Given the description of an element on the screen output the (x, y) to click on. 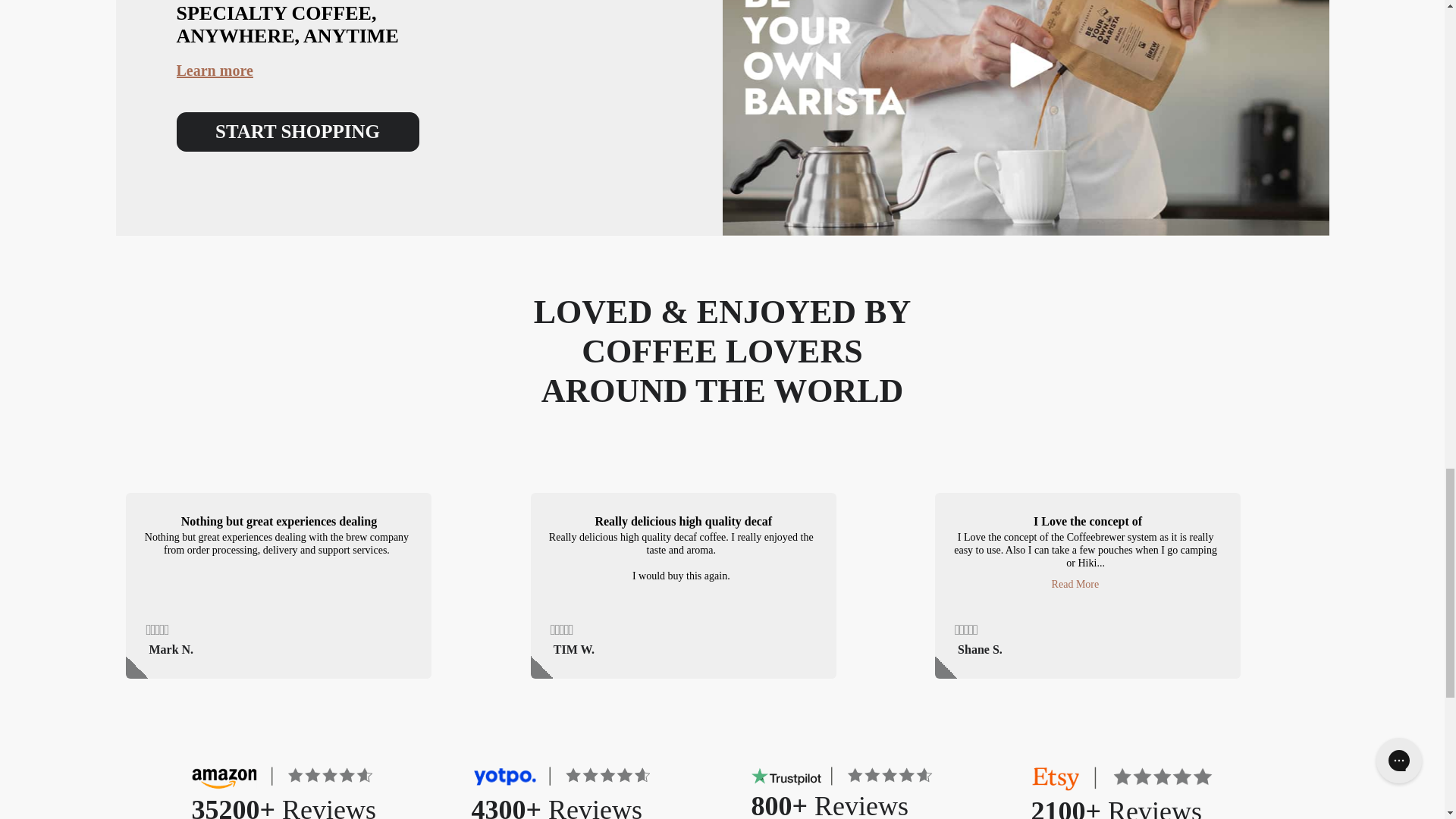
Collection page (297, 131)
Learn more (213, 70)
